Given the description of an element on the screen output the (x, y) to click on. 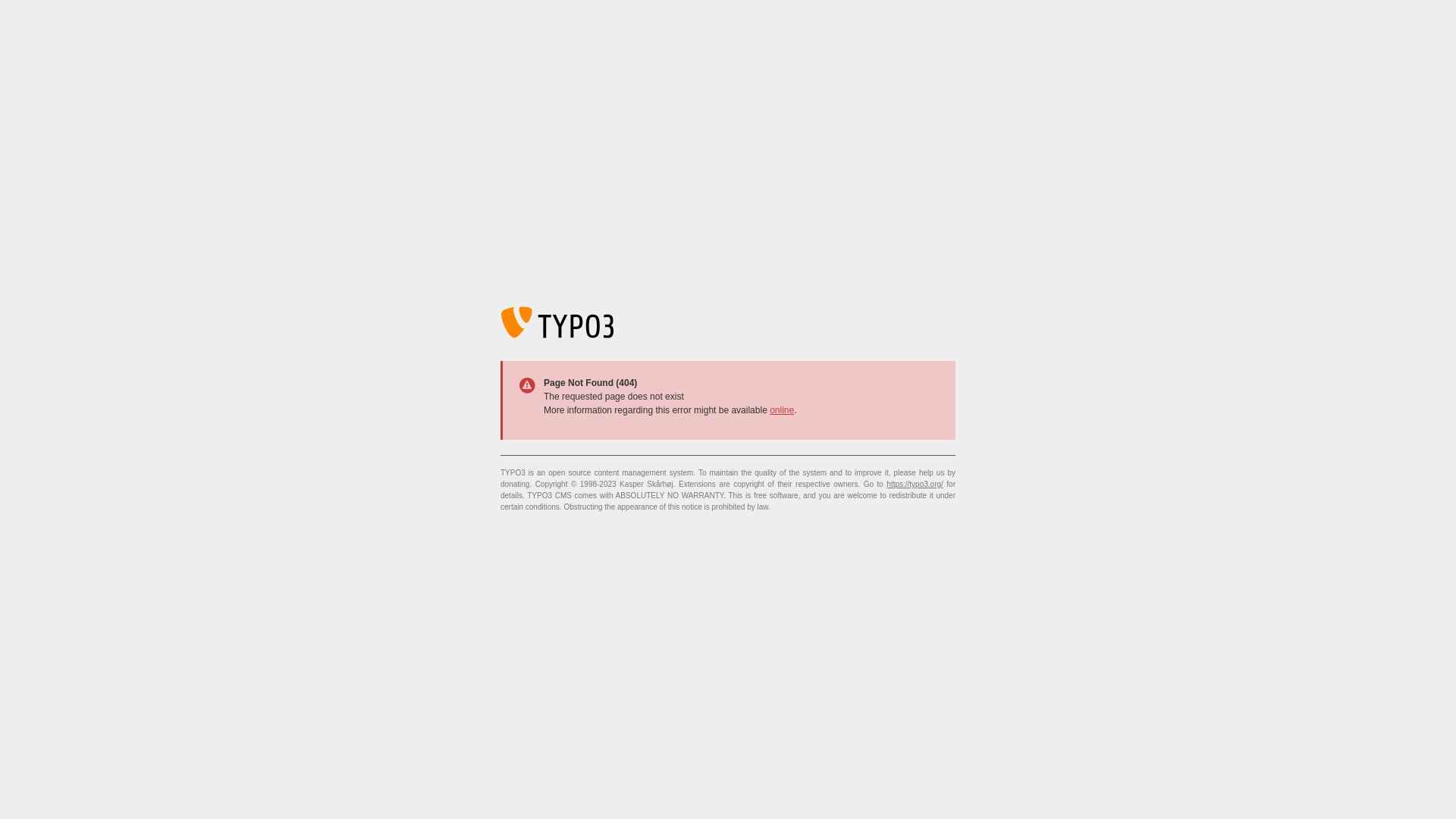
online Element type: text (781, 409)
https://typo3.org/ Element type: text (914, 484)
